Given the description of an element on the screen output the (x, y) to click on. 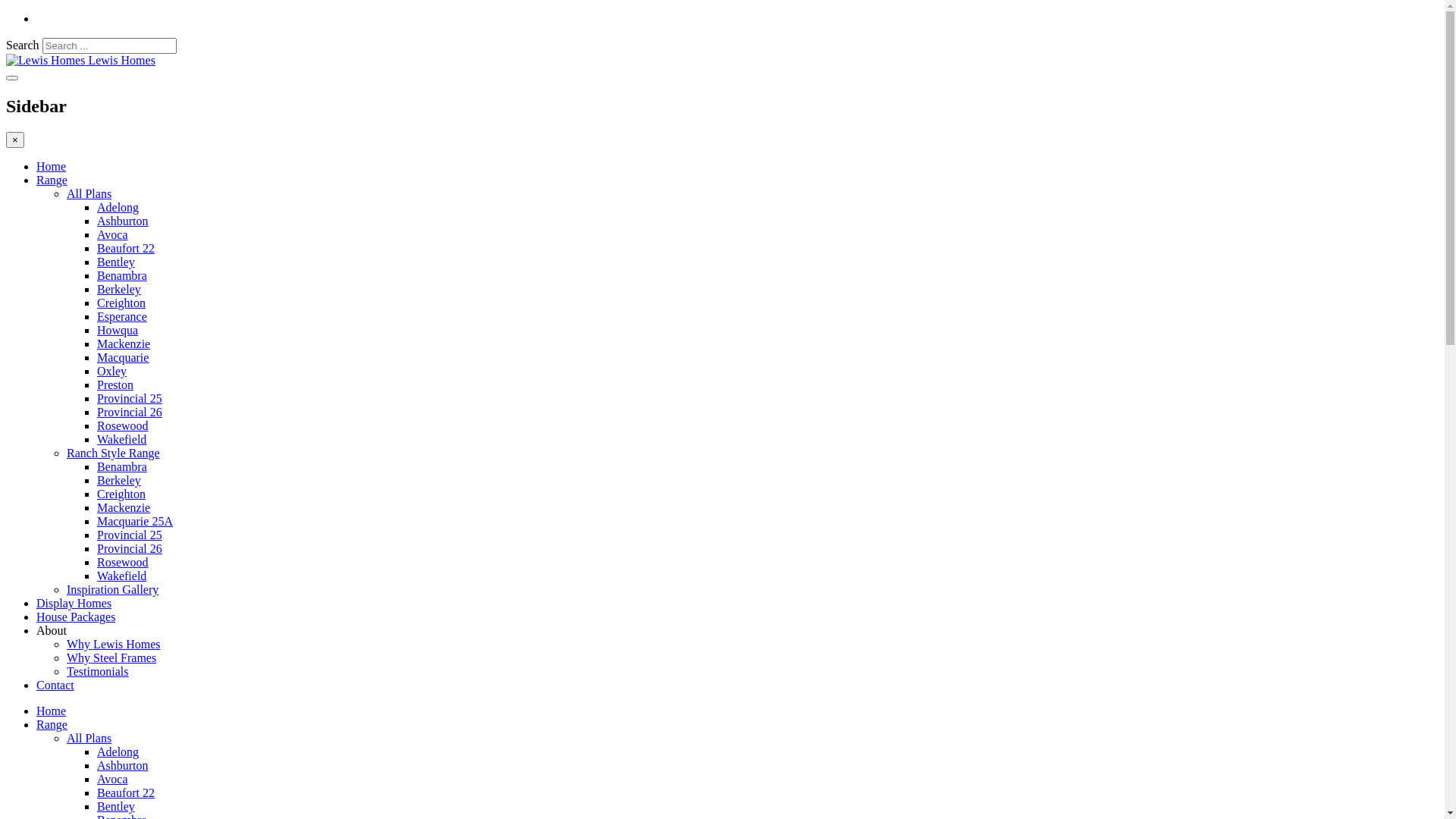
Avoca Element type: text (112, 234)
Bentley Element type: text (115, 261)
Ranch Style Range Element type: text (113, 452)
Provincial 25 Element type: text (129, 534)
Range Element type: text (51, 179)
Adelong Element type: text (117, 206)
Home Element type: text (50, 166)
Beaufort 22 Element type: text (125, 247)
Macquarie 25A Element type: text (134, 520)
Why Lewis Homes Element type: text (113, 643)
Esperance Element type: text (122, 316)
Berkeley Element type: text (119, 288)
Why Steel Frames Element type: text (111, 657)
Wakefield Element type: text (121, 439)
Inspiration Gallery Element type: text (112, 589)
Benambra Element type: text (122, 275)
Range Element type: text (51, 724)
Berkeley Element type: text (119, 479)
Rosewood Element type: text (122, 425)
03 5823 2179 Element type: text (130, 18)
Rosewood Element type: text (122, 561)
Mackenzie Element type: text (123, 507)
Macquarie Element type: text (122, 357)
Howqua Element type: text (117, 329)
Contact Element type: text (55, 684)
Testimonials Element type: text (97, 671)
Adelong Element type: text (117, 751)
Wakefield Element type: text (121, 575)
Lewis Homes Element type: text (80, 59)
Provincial 25 Element type: text (129, 398)
Oxley Element type: text (111, 370)
Provincial 26 Element type: text (129, 411)
Bentley Element type: text (115, 806)
Avoca Element type: text (112, 778)
Home Element type: text (50, 710)
House Packages Element type: text (75, 616)
Mackenzie Element type: text (123, 343)
Ashburton Element type: text (122, 220)
Display Homes Element type: text (73, 602)
Creighton Element type: text (121, 493)
Provincial 26 Element type: text (129, 548)
Creighton Element type: text (121, 302)
All Plans Element type: text (88, 737)
Benambra Element type: text (122, 466)
All Plans Element type: text (88, 193)
Ashburton Element type: text (122, 765)
Preston Element type: text (115, 384)
Beaufort 22 Element type: text (125, 792)
